Given the description of an element on the screen output the (x, y) to click on. 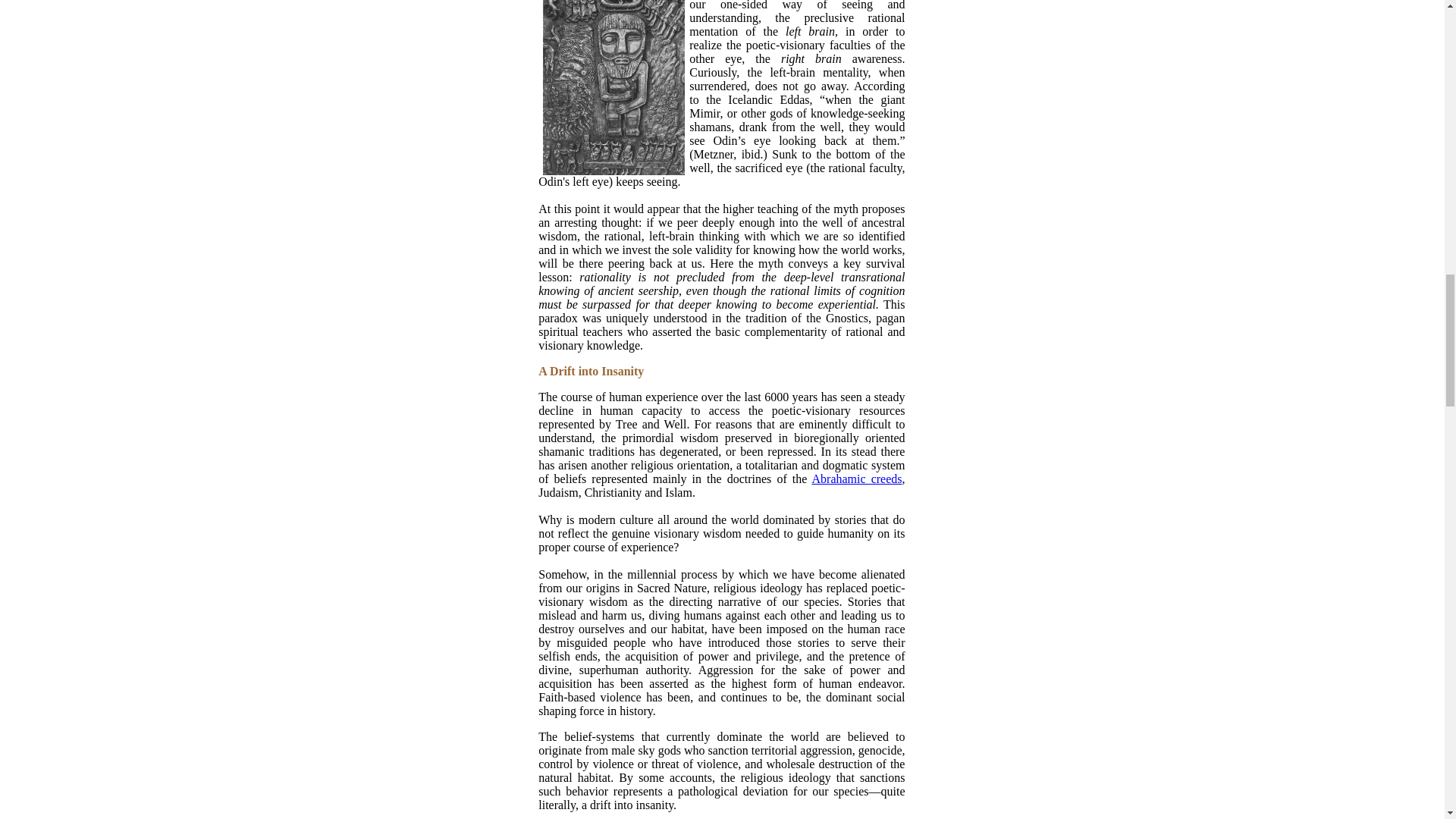
Abrahamic creeds (855, 478)
